Given the description of an element on the screen output the (x, y) to click on. 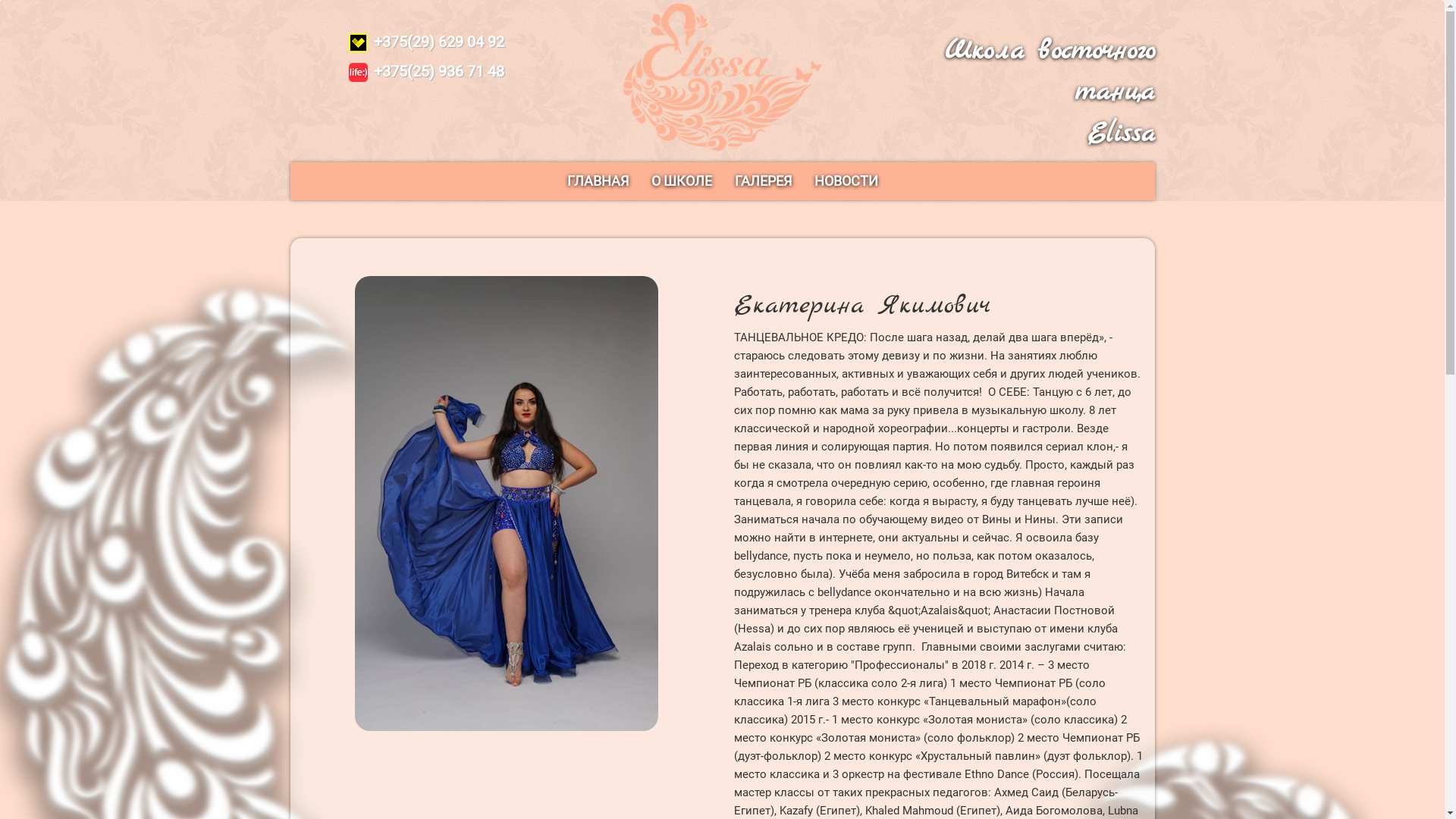
+375(25) 936 71 48 Element type: text (426, 71)
+375(29) 629 04 92 Element type: text (426, 41)
